Given the description of an element on the screen output the (x, y) to click on. 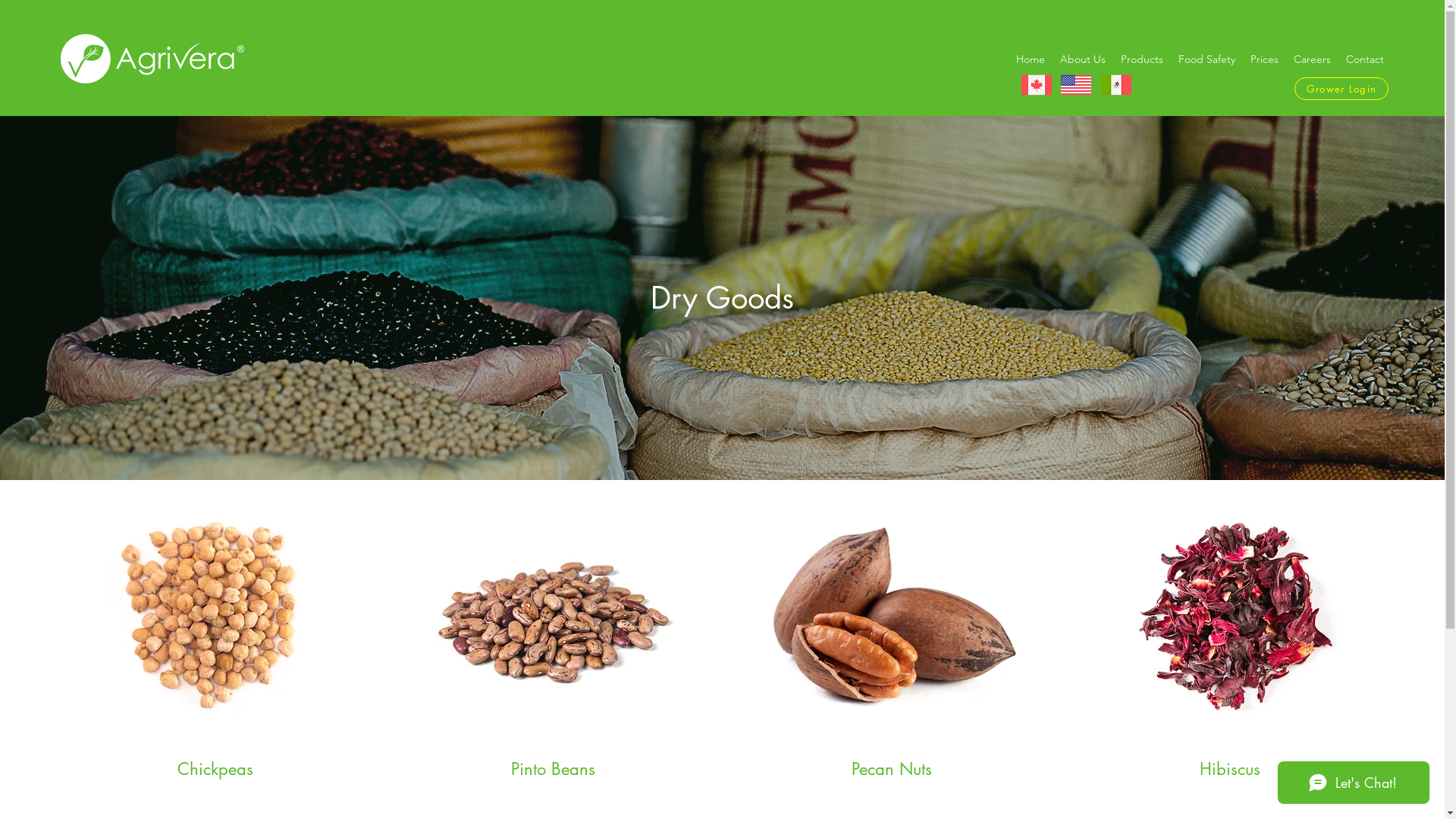
Grower Login Element type: text (1341, 88)
Contact Element type: text (1364, 58)
Prices Element type: text (1264, 58)
Products Element type: text (1141, 58)
Home Element type: text (1030, 58)
About Us Element type: text (1082, 58)
Food Safety Element type: text (1206, 58)
Careers Element type: text (1312, 58)
